Given the description of an element on the screen output the (x, y) to click on. 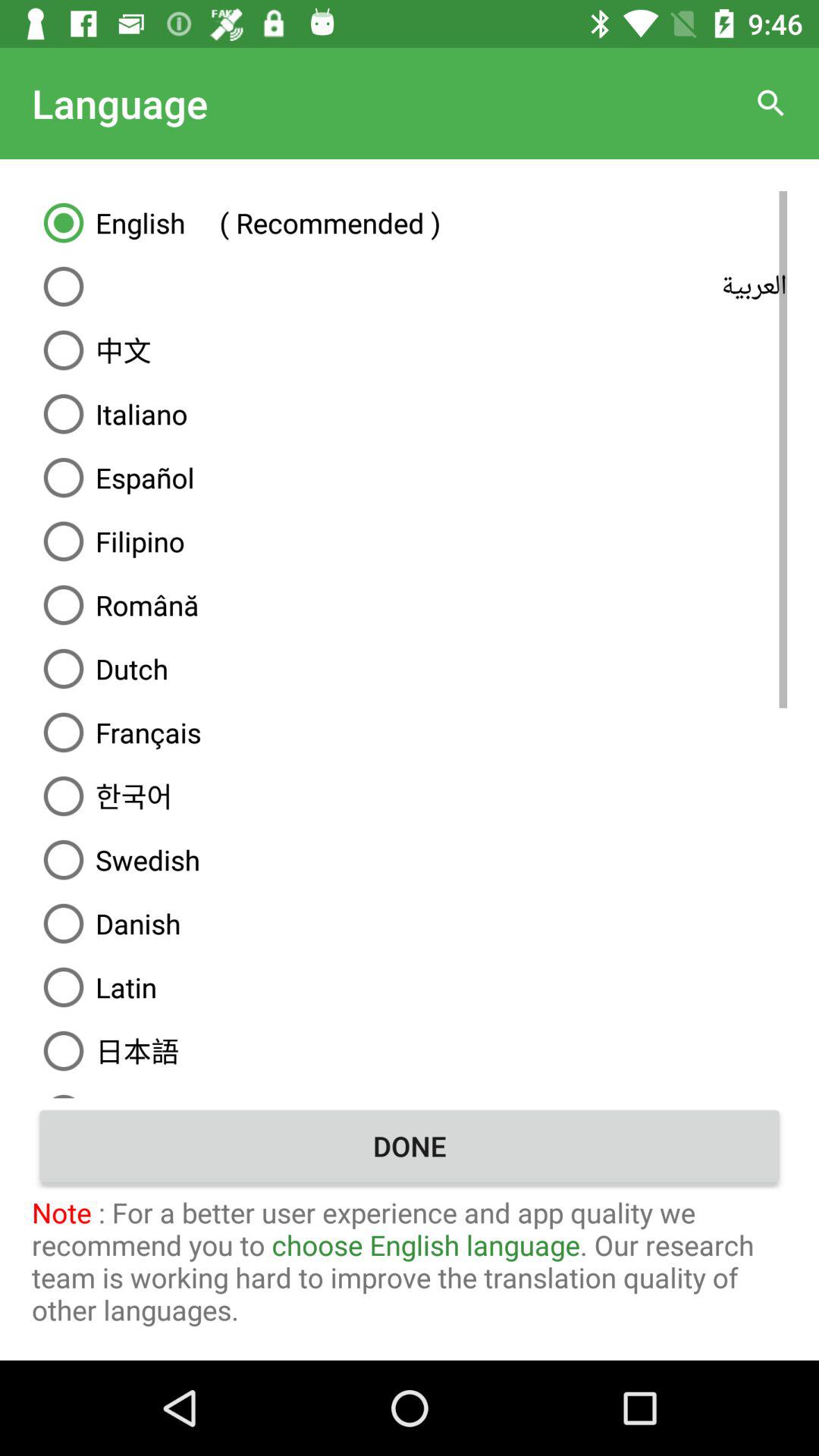
press icon above the filipino (409, 477)
